Given the description of an element on the screen output the (x, y) to click on. 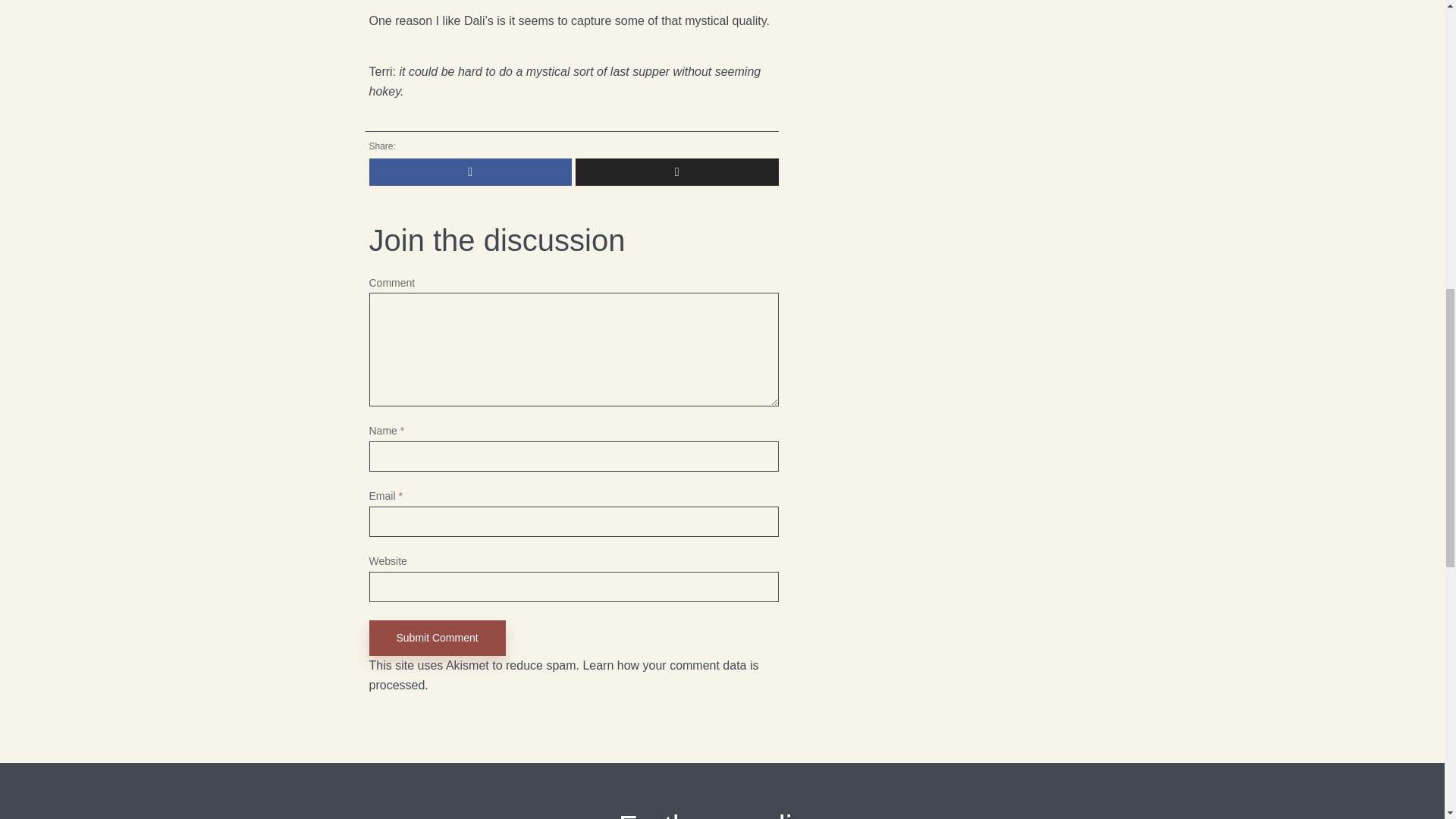
Learn how your comment data is processed (563, 675)
Submit Comment (436, 637)
Submit Comment (436, 637)
